Given the description of an element on the screen output the (x, y) to click on. 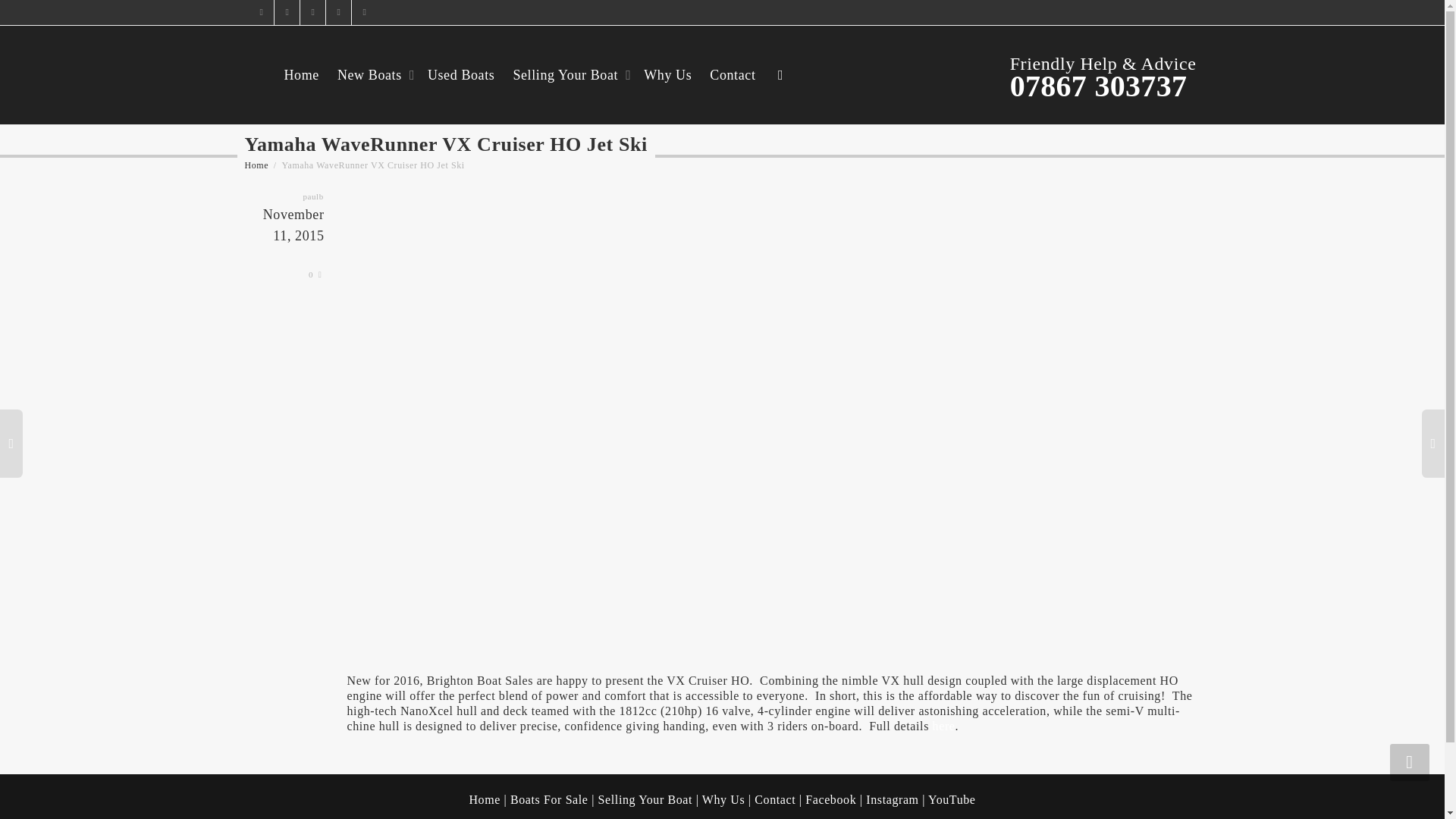
Boats For Sale (549, 799)
Home (484, 799)
Brighton Boat Sales (255, 164)
Selling Your Boat (569, 74)
November 11, 2015 (286, 236)
Why Us (722, 799)
Instagram (892, 799)
Contact  (776, 799)
View all POSTS by paulb (312, 196)
07867 303737 (1099, 85)
